Given the description of an element on the screen output the (x, y) to click on. 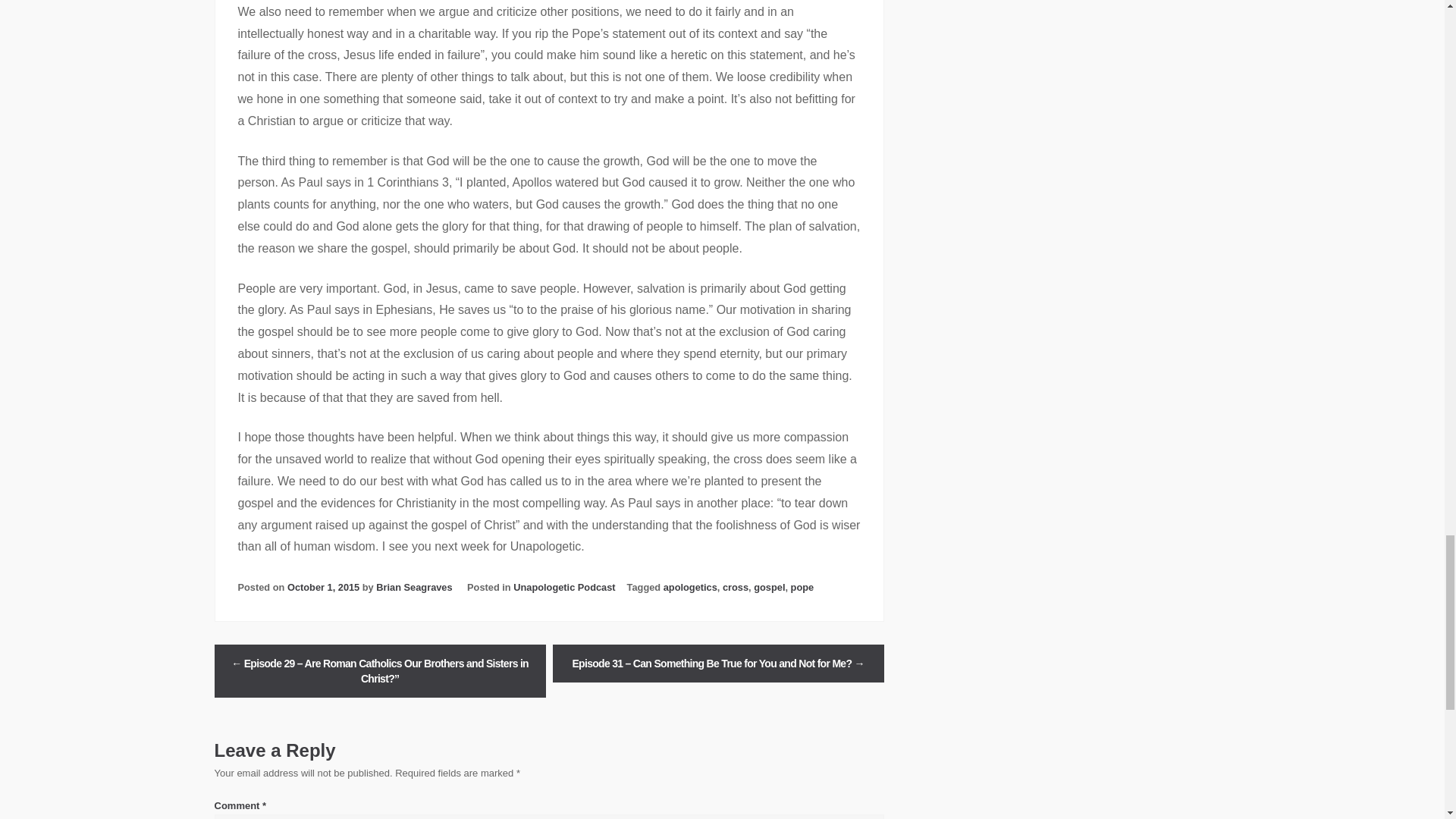
pope (801, 586)
Unapologetic Podcast (563, 586)
October 1, 2015 (322, 586)
apologetics (690, 586)
cross (735, 586)
Brian Seagraves (413, 586)
gospel (769, 586)
